Given the description of an element on the screen output the (x, y) to click on. 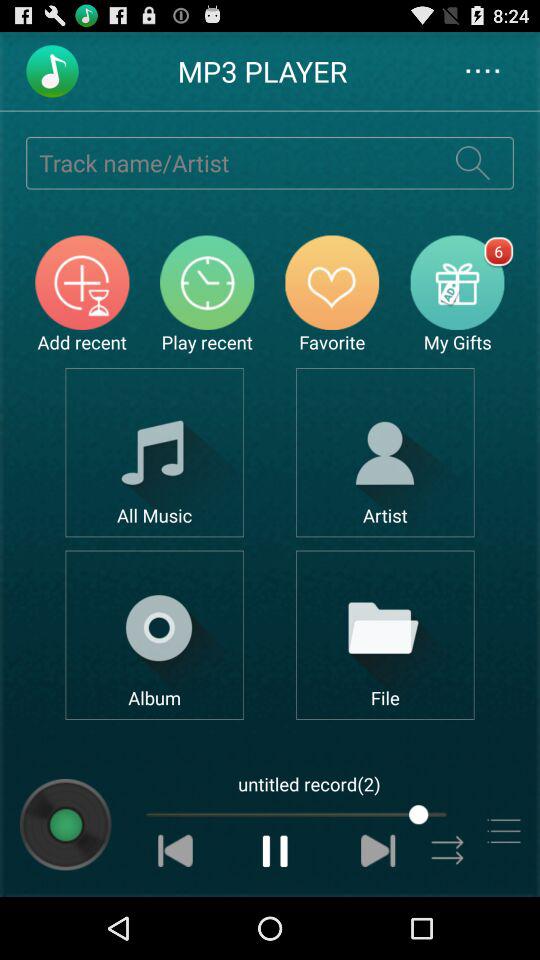
open artist (384, 452)
